Given the description of an element on the screen output the (x, y) to click on. 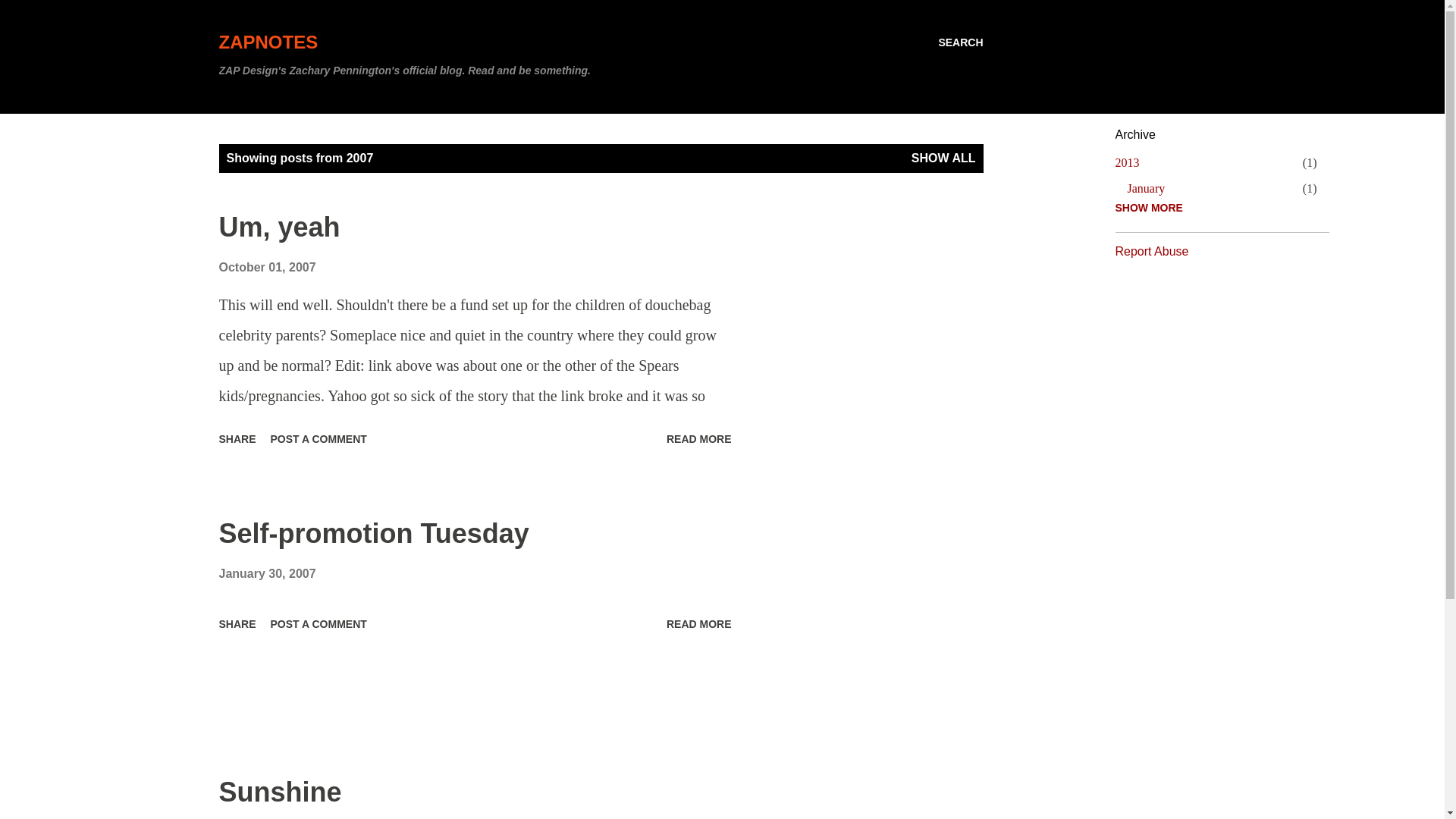
READ MORE (699, 438)
October 01, 2007 (266, 267)
SHOW ALL (943, 158)
POST A COMMENT (1145, 187)
SHARE (1126, 162)
Um, yeah (318, 623)
permanent link (237, 438)
READ MORE (278, 226)
